Given the description of an element on the screen output the (x, y) to click on. 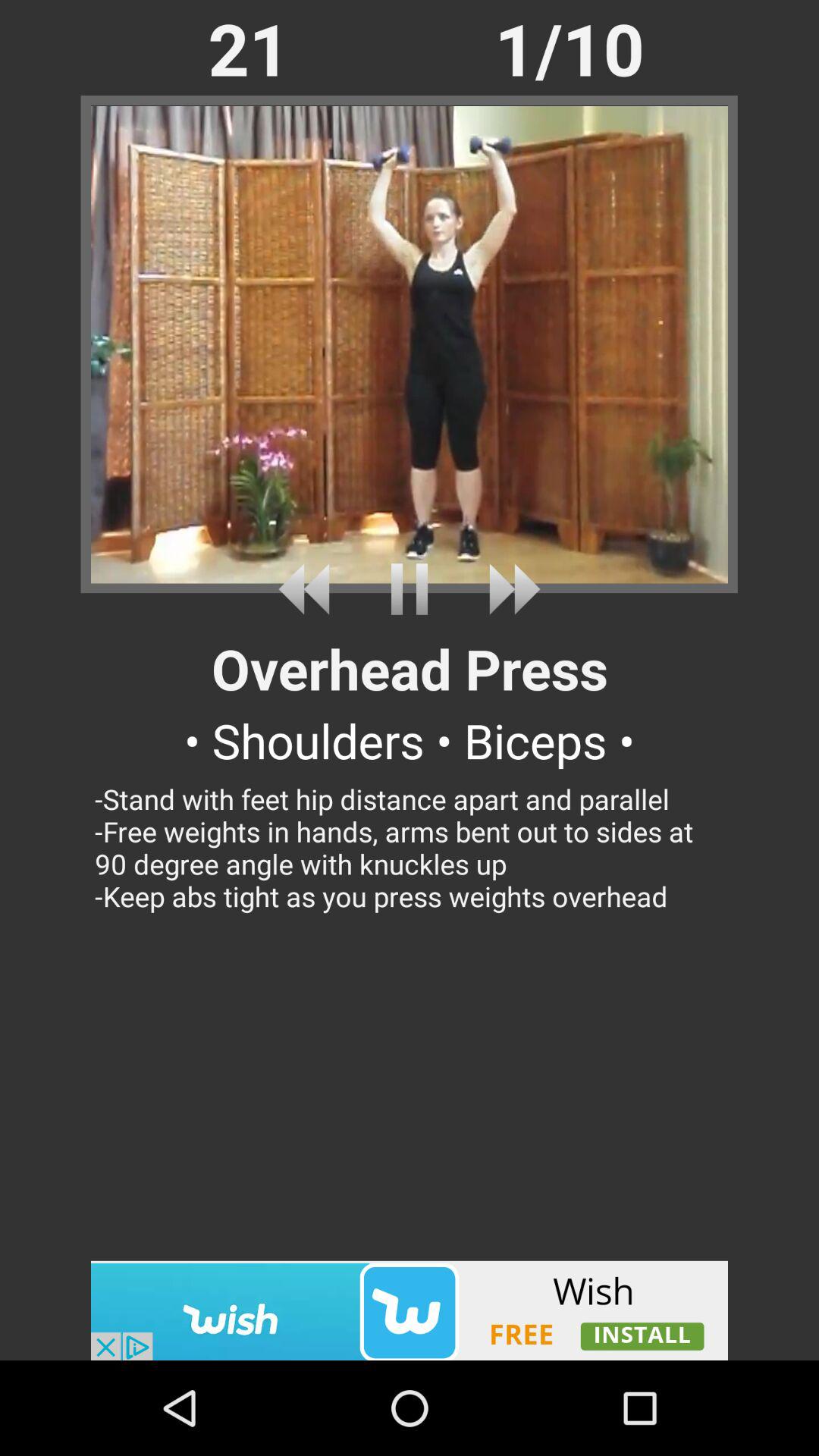
go to stop option (409, 589)
